Given the description of an element on the screen output the (x, y) to click on. 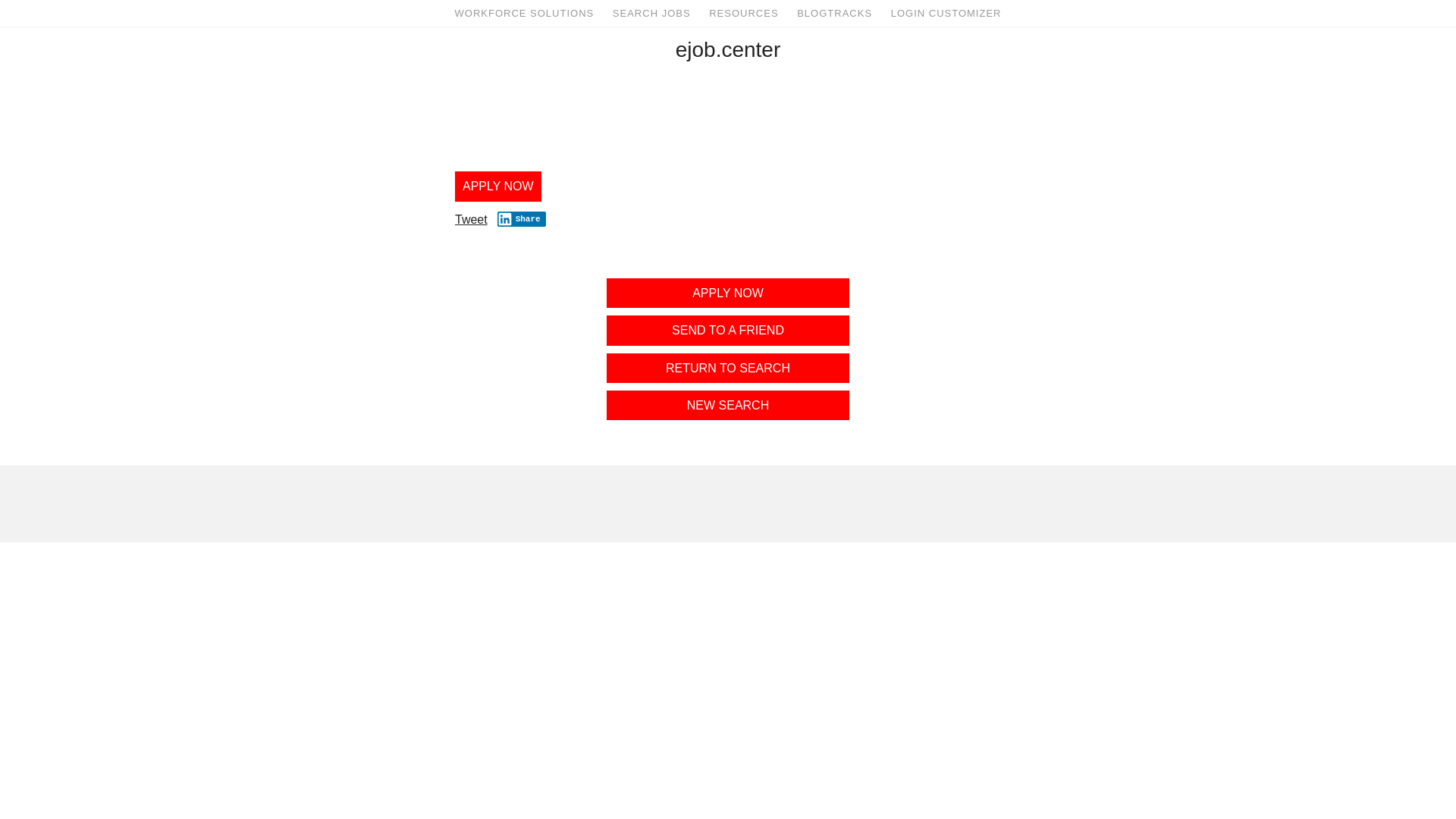
LOGIN CUSTOMIZER Element type: text (946, 14)
SEARCH JOBS Element type: text (651, 14)
APPLY NOW Element type: text (727, 292)
WORKFORCE SOLUTIONS Element type: text (524, 14)
Share Element type: text (521, 218)
Tweet Element type: text (471, 219)
RESOURCES Element type: text (743, 14)
APPLY NOW Element type: text (498, 185)
NEW SEARCH Element type: text (727, 405)
BLOGTRACKS Element type: text (834, 14)
SEND TO A FRIEND Element type: text (727, 330)
RETURN TO SEARCH Element type: text (727, 367)
